Given the description of an element on the screen output the (x, y) to click on. 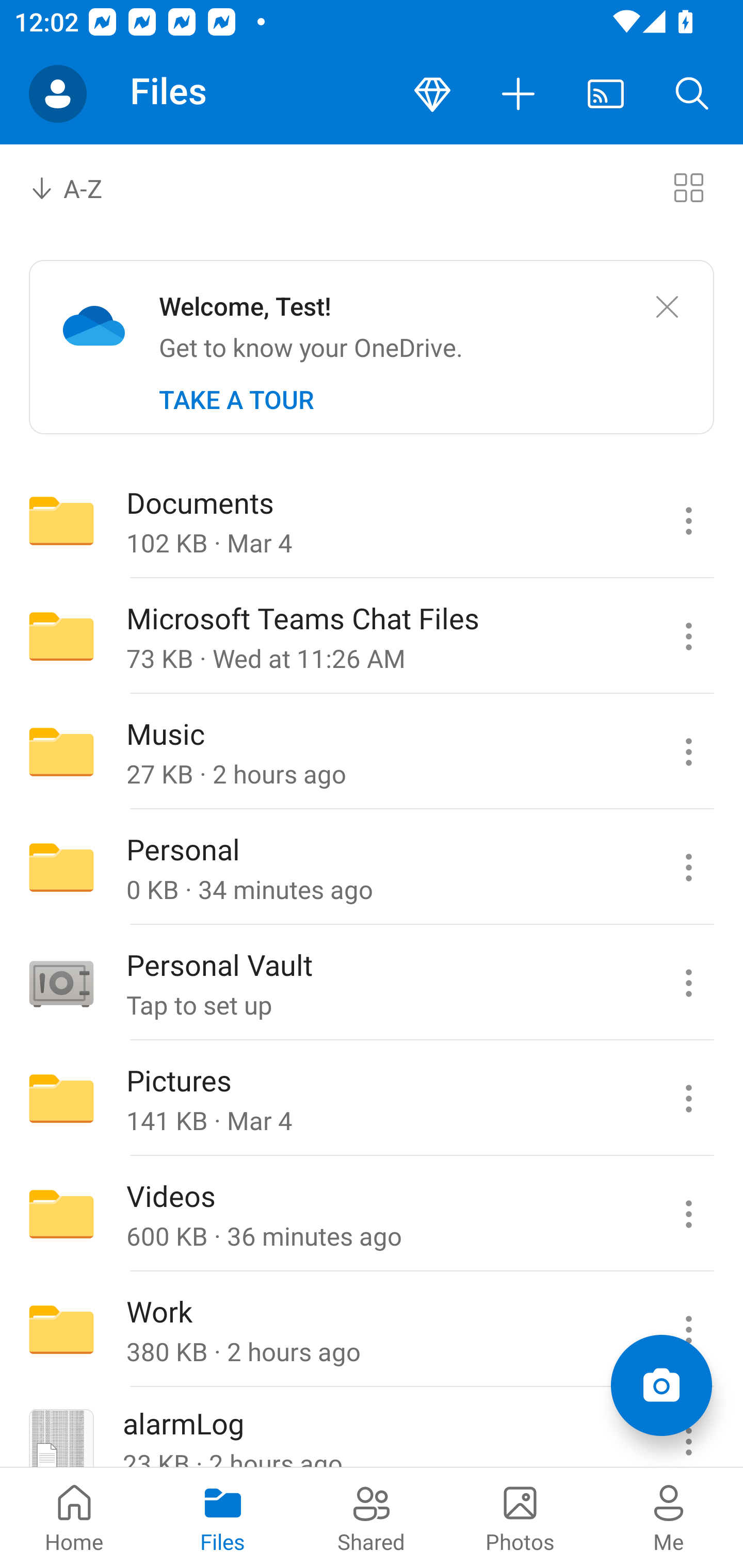
Account switcher (57, 93)
Cast. Disconnected (605, 93)
Premium button (432, 93)
More actions button (518, 93)
Search button (692, 93)
A-Z Sort by combo box, sort by name, A to Z (80, 187)
Switch to tiles view (688, 187)
Close (667, 307)
TAKE A TOUR (236, 399)
Folder Documents 102 KB · Mar 4 Documents commands (371, 520)
Documents commands (688, 520)
Microsoft Teams Chat Files commands (688, 636)
Folder Music 27 KB · 2 hours ago Music commands (371, 751)
Music commands (688, 751)
Personal commands (688, 867)
Personal Vault commands (688, 983)
Folder Pictures 141 KB · Mar 4 Pictures commands (371, 1099)
Pictures commands (688, 1099)
Videos commands (688, 1214)
Folder Work 380 KB · 2 hours ago Work commands (371, 1329)
Work commands (688, 1329)
Add items Scan (660, 1385)
alarmLog commands (688, 1427)
Home pivot Home (74, 1517)
Shared pivot Shared (371, 1517)
Photos pivot Photos (519, 1517)
Me pivot Me (668, 1517)
